Given the description of an element on the screen output the (x, y) to click on. 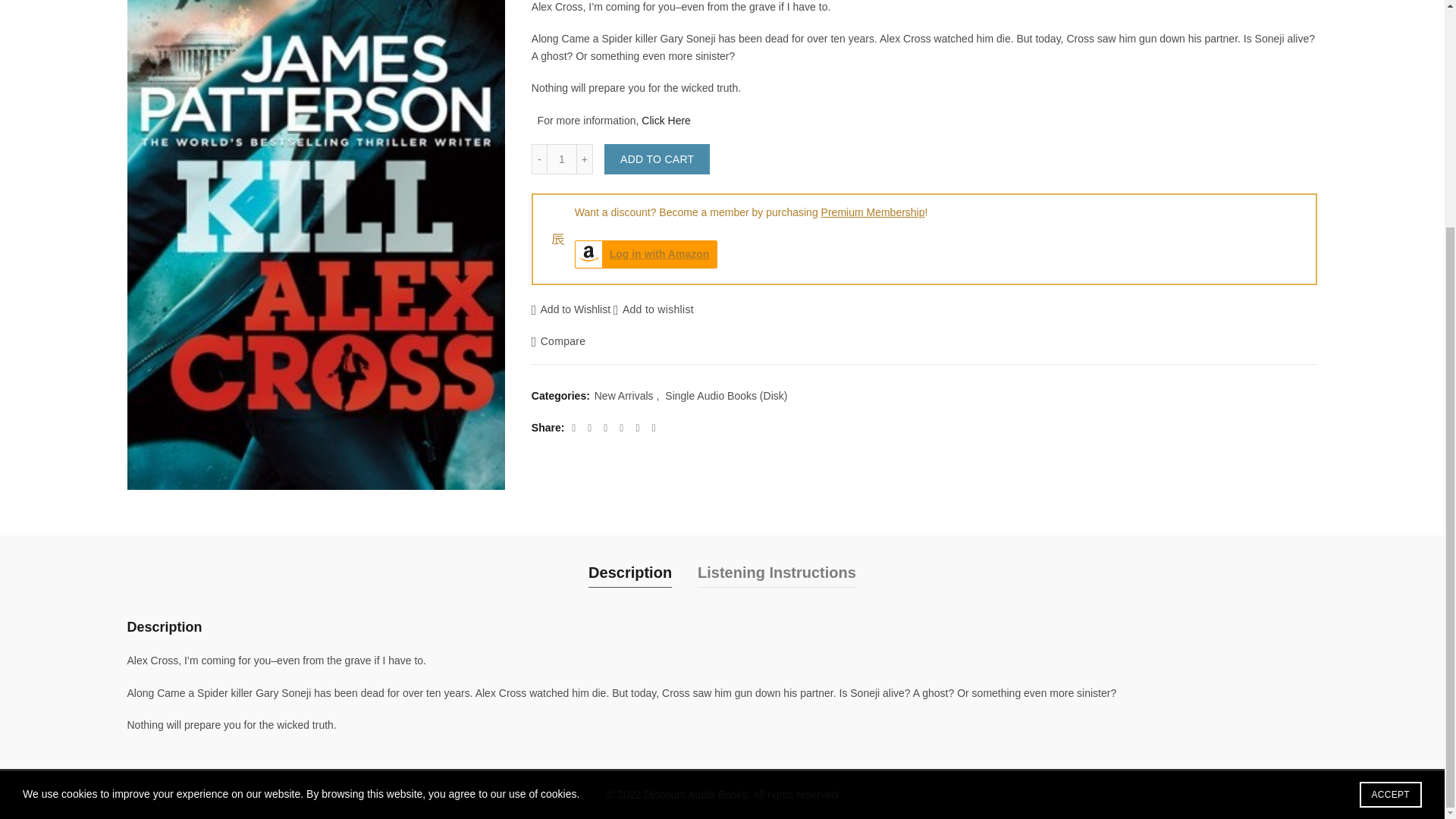
1 (561, 159)
